Given the description of an element on the screen output the (x, y) to click on. 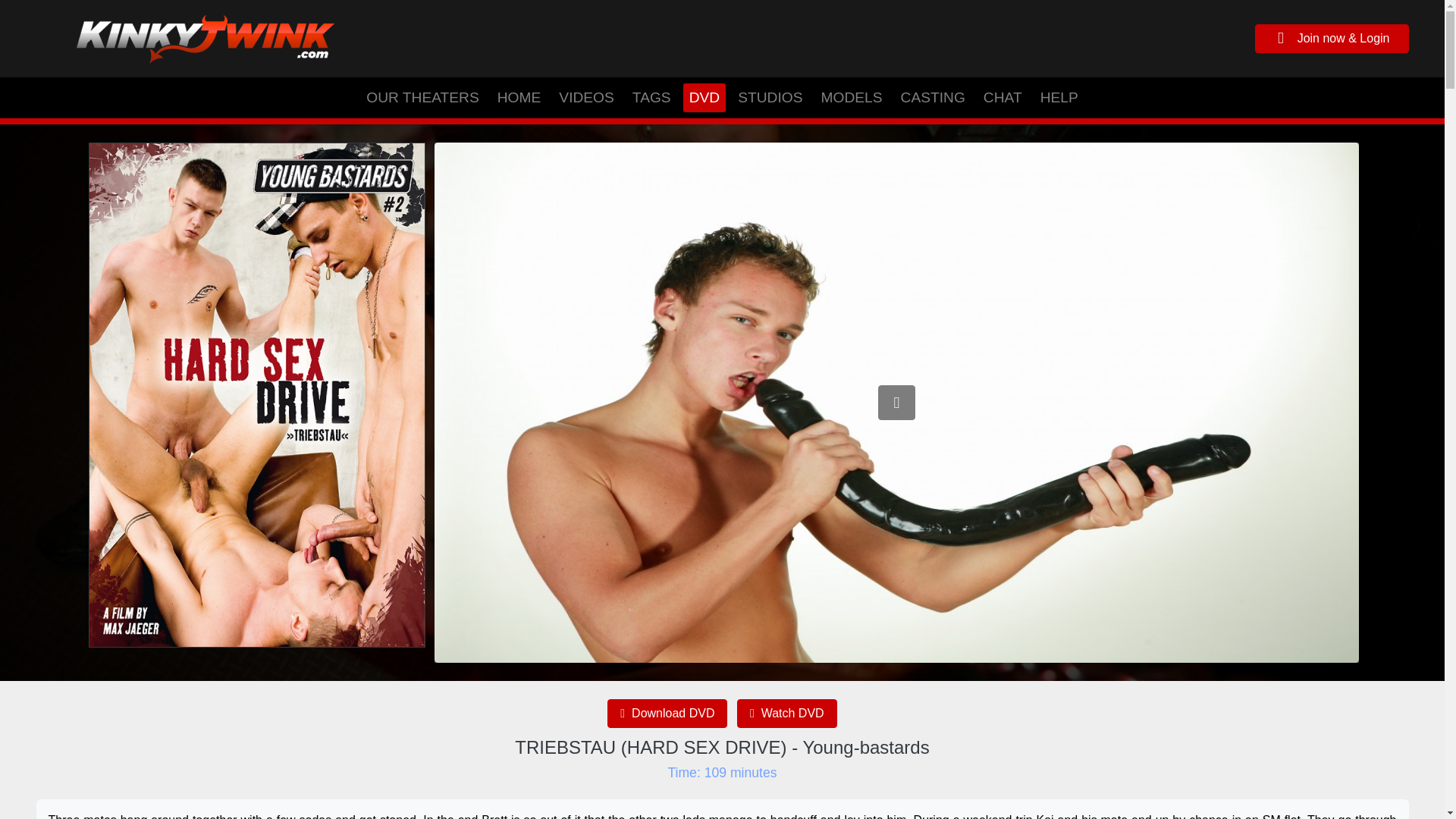
CASTING (933, 97)
HOME (519, 97)
DVD (704, 97)
STUDIOS (770, 97)
TAGS (651, 97)
MODELS (850, 97)
HELP (1058, 97)
CHAT (1001, 97)
OUR THEATERS (421, 97)
VIDEOS (586, 97)
